Given the description of an element on the screen output the (x, y) to click on. 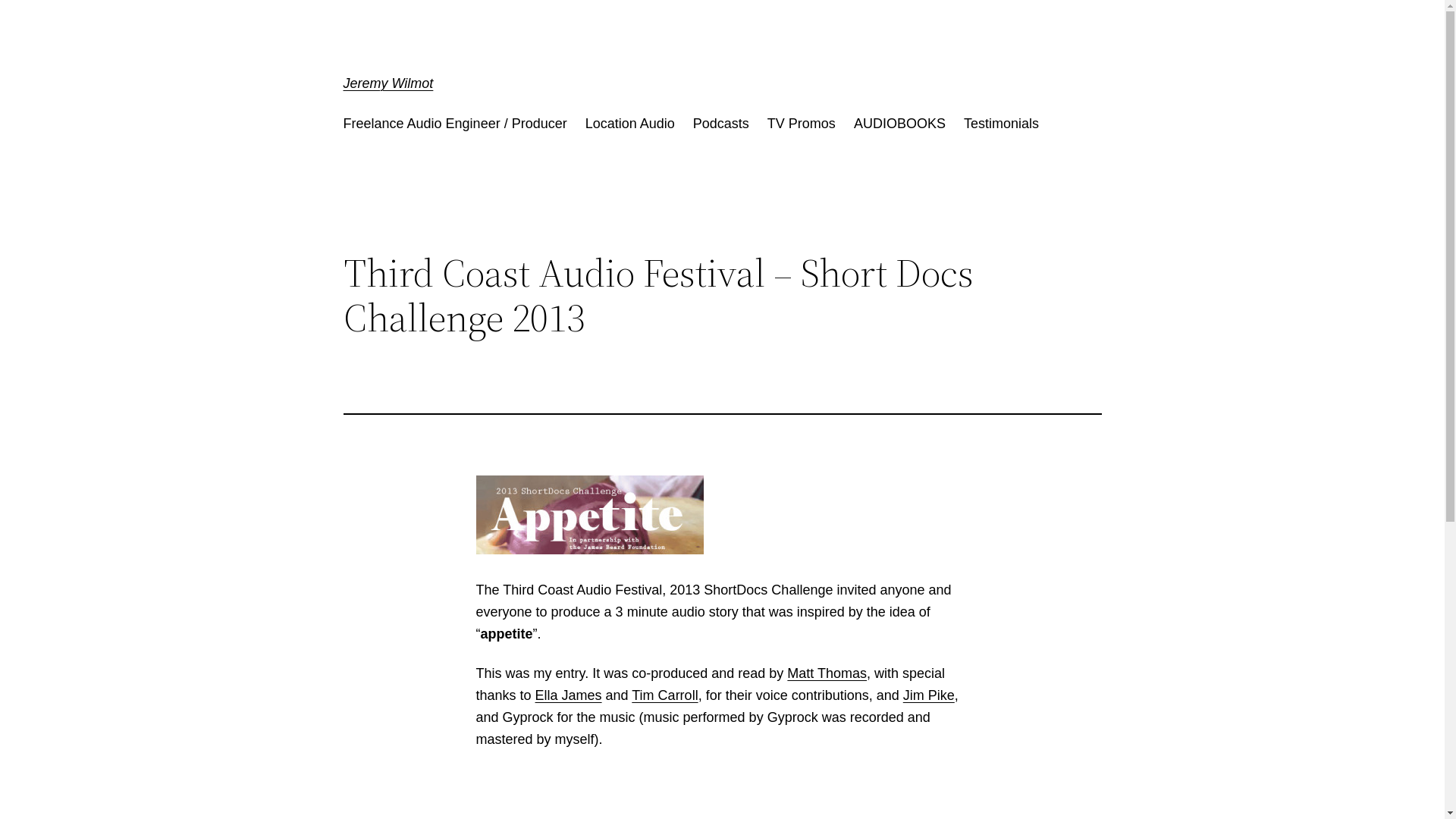
Testimonials Element type: text (1000, 123)
AUDIOBOOKS Element type: text (899, 123)
Location Audio Element type: text (629, 123)
Ella James Element type: text (568, 694)
TV Promos Element type: text (801, 123)
Podcasts Element type: text (721, 123)
Jeremy Wilmot Element type: text (387, 83)
Tim Carroll Element type: text (664, 694)
Matt Thomas Element type: text (826, 672)
Freelance Audio Engineer / Producer Element type: text (454, 123)
Jim Pike Element type: text (928, 694)
